Given the description of an element on the screen output the (x, y) to click on. 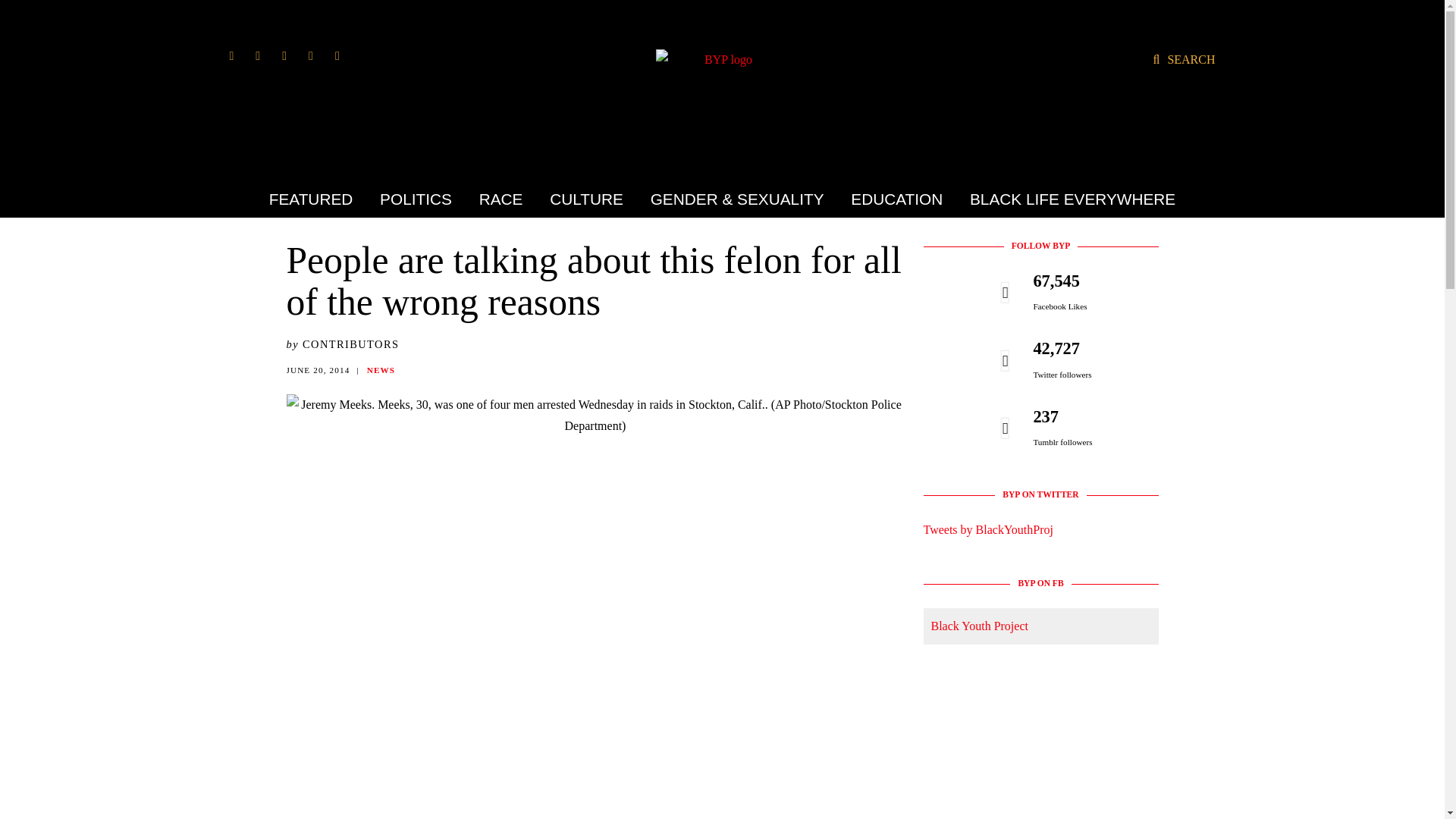
POLITICS (415, 198)
CULTURE (586, 198)
RACE (500, 198)
NEWS (380, 369)
SEARCH (1183, 59)
EDUCATION (896, 198)
BLACK LIFE EVERYWHERE (1066, 198)
by CONTRIBUTORS (342, 344)
FEATURED (317, 198)
